Given the description of an element on the screen output the (x, y) to click on. 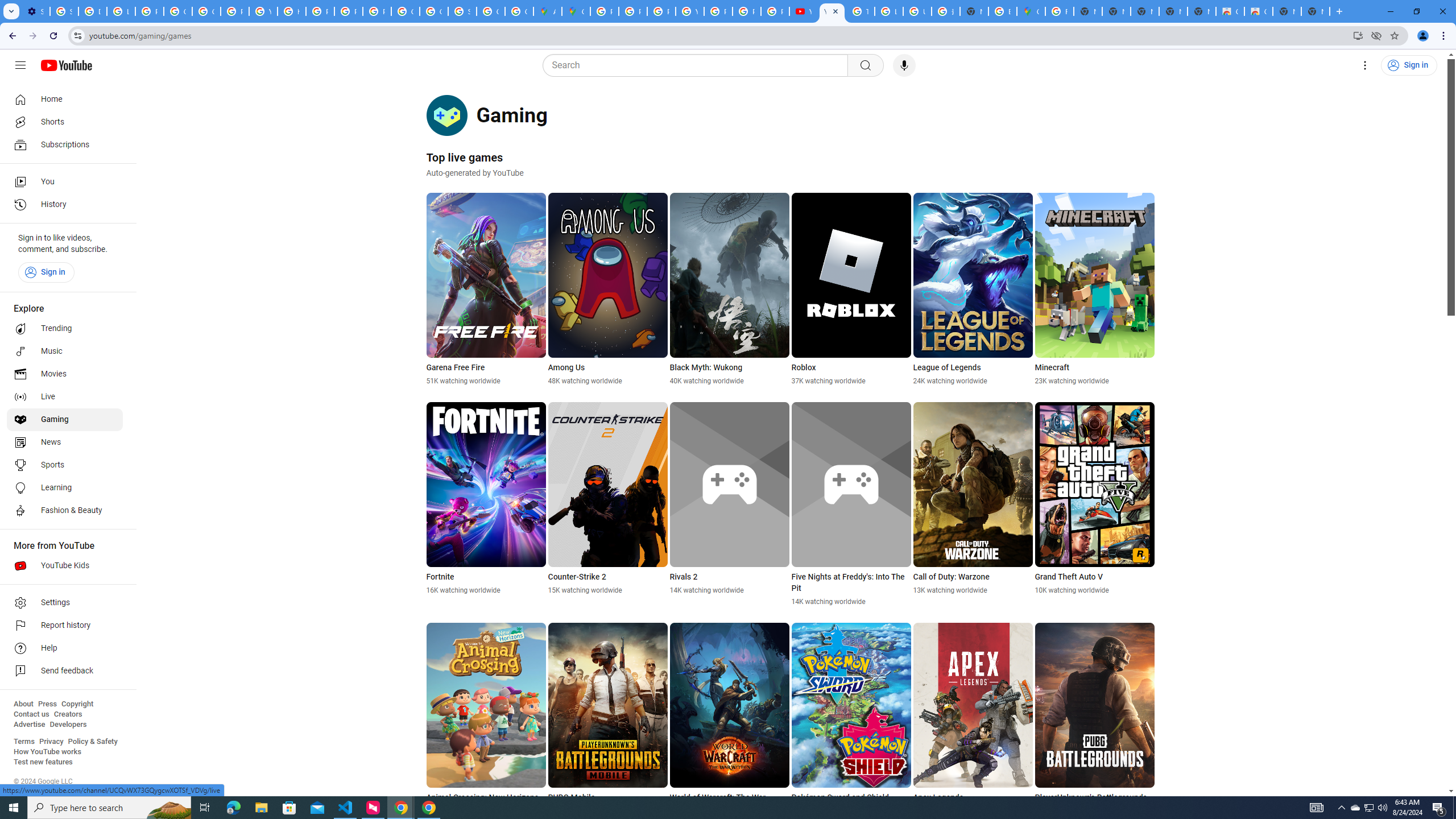
Shorts (64, 121)
Garena Free Fire 51K watching worldwide (486, 289)
Settings - On startup (35, 11)
Copyright (77, 703)
Trending (64, 328)
Five Nights at Freddy's: Into The Pit 14K watching worldwide (850, 504)
YouTube (690, 11)
Black Myth: Wukong 40K watching worldwide (729, 289)
